Given the description of an element on the screen output the (x, y) to click on. 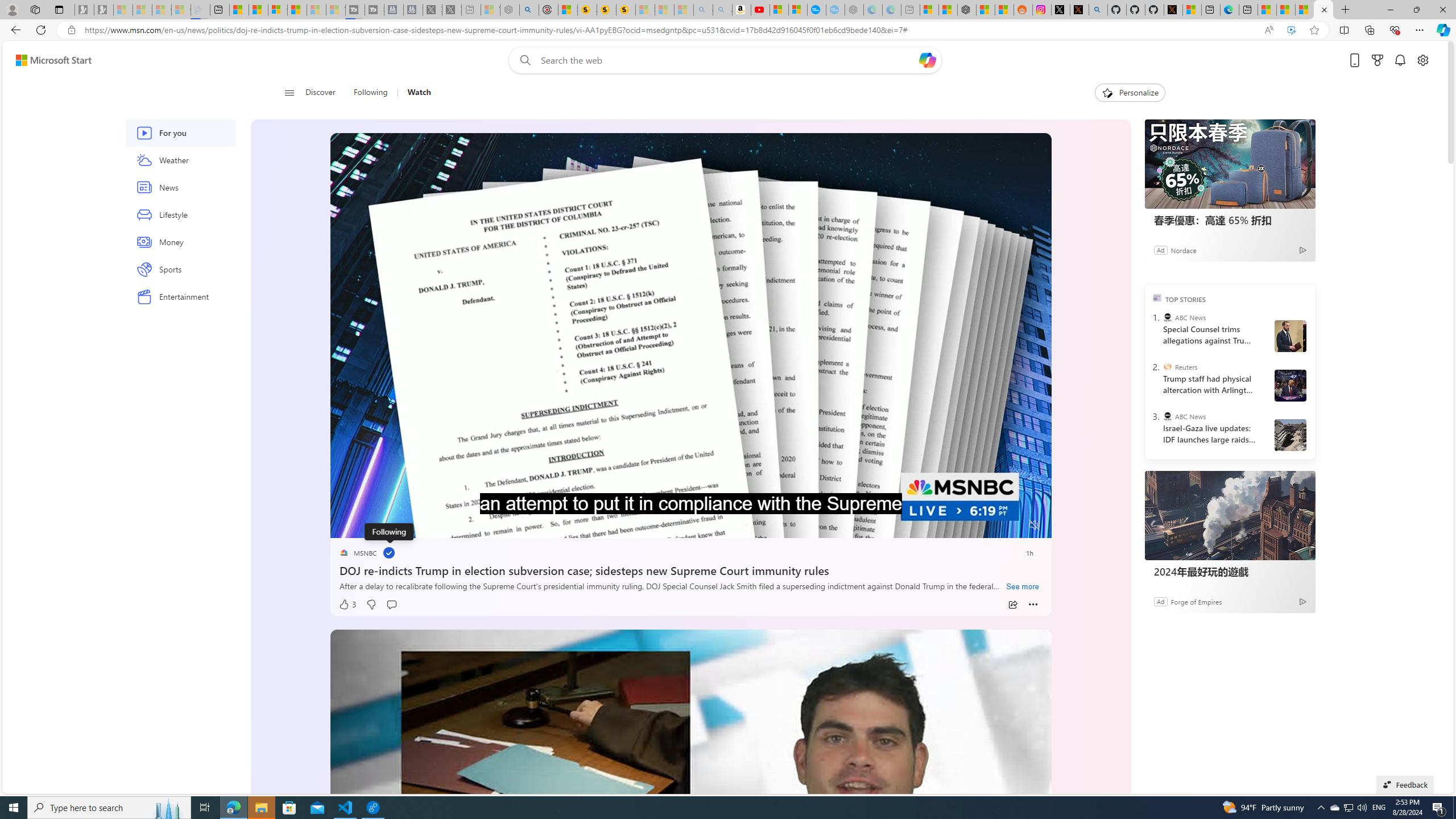
Opinion: Op-Ed and Commentary - USA TODAY (816, 9)
Share (1012, 604)
Forge of Empires (1195, 601)
Enter your search term (727, 59)
Overview (277, 9)
Personalize (1129, 92)
To get missing image descriptions, open the context menu. (1106, 92)
